Given the description of an element on the screen output the (x, y) to click on. 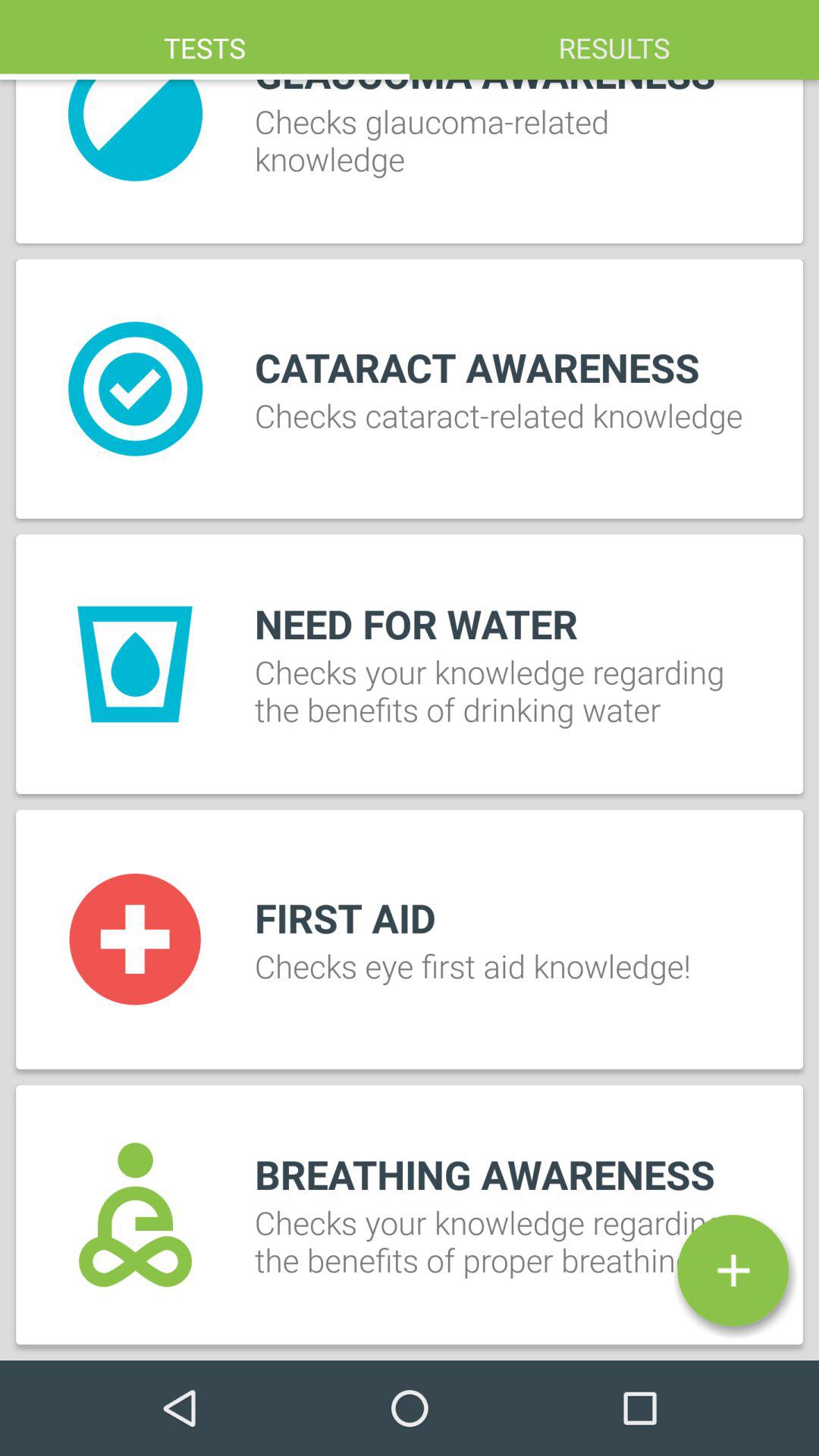
launch item next to tests item (614, 39)
